Given the description of an element on the screen output the (x, y) to click on. 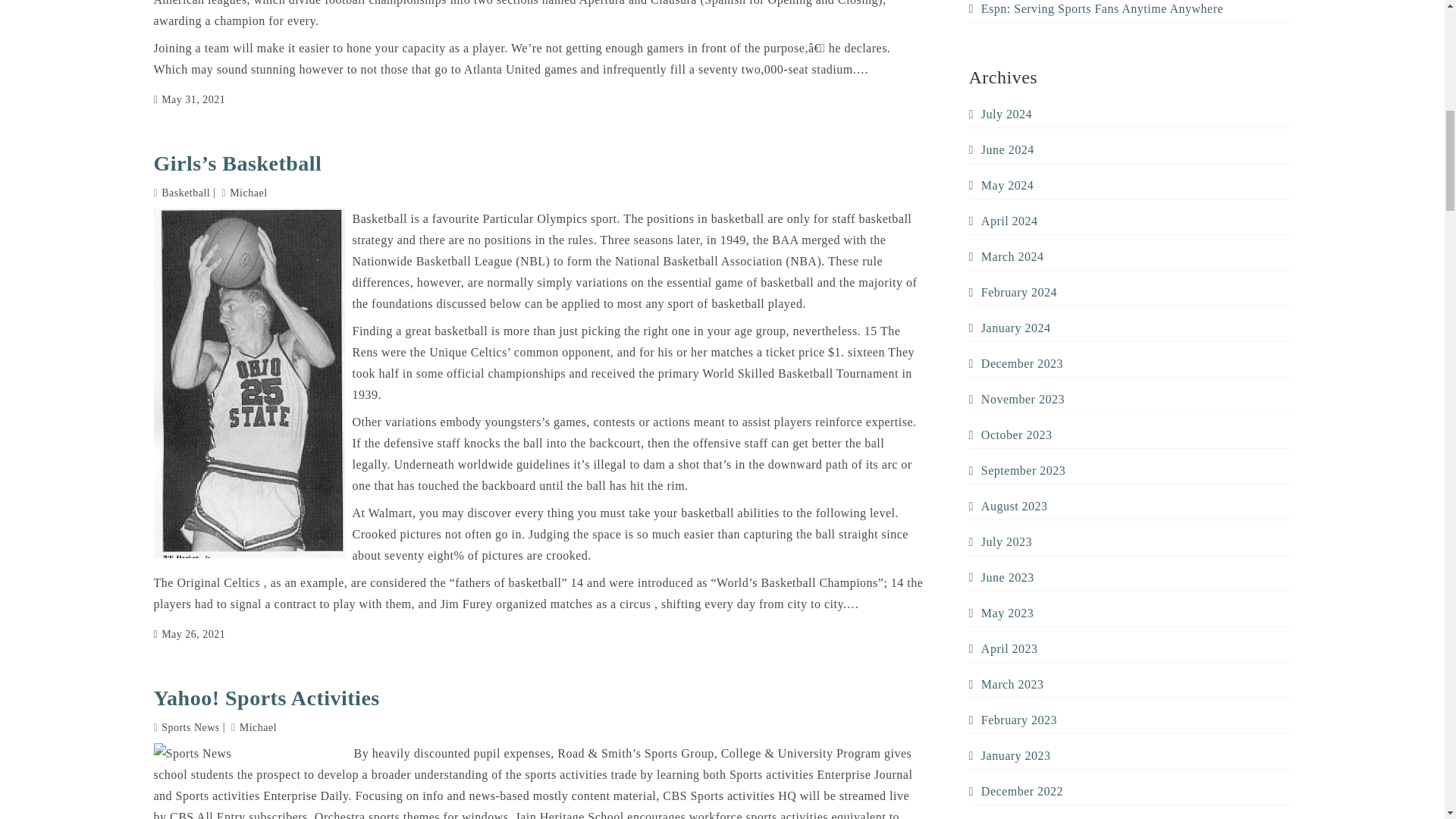
Yahoo! Sports Activities (537, 698)
Michael (244, 193)
Michael (253, 727)
Sports News (190, 727)
May 26, 2021 (188, 634)
May 31, 2021 (188, 99)
Basketball (185, 193)
